Given the description of an element on the screen output the (x, y) to click on. 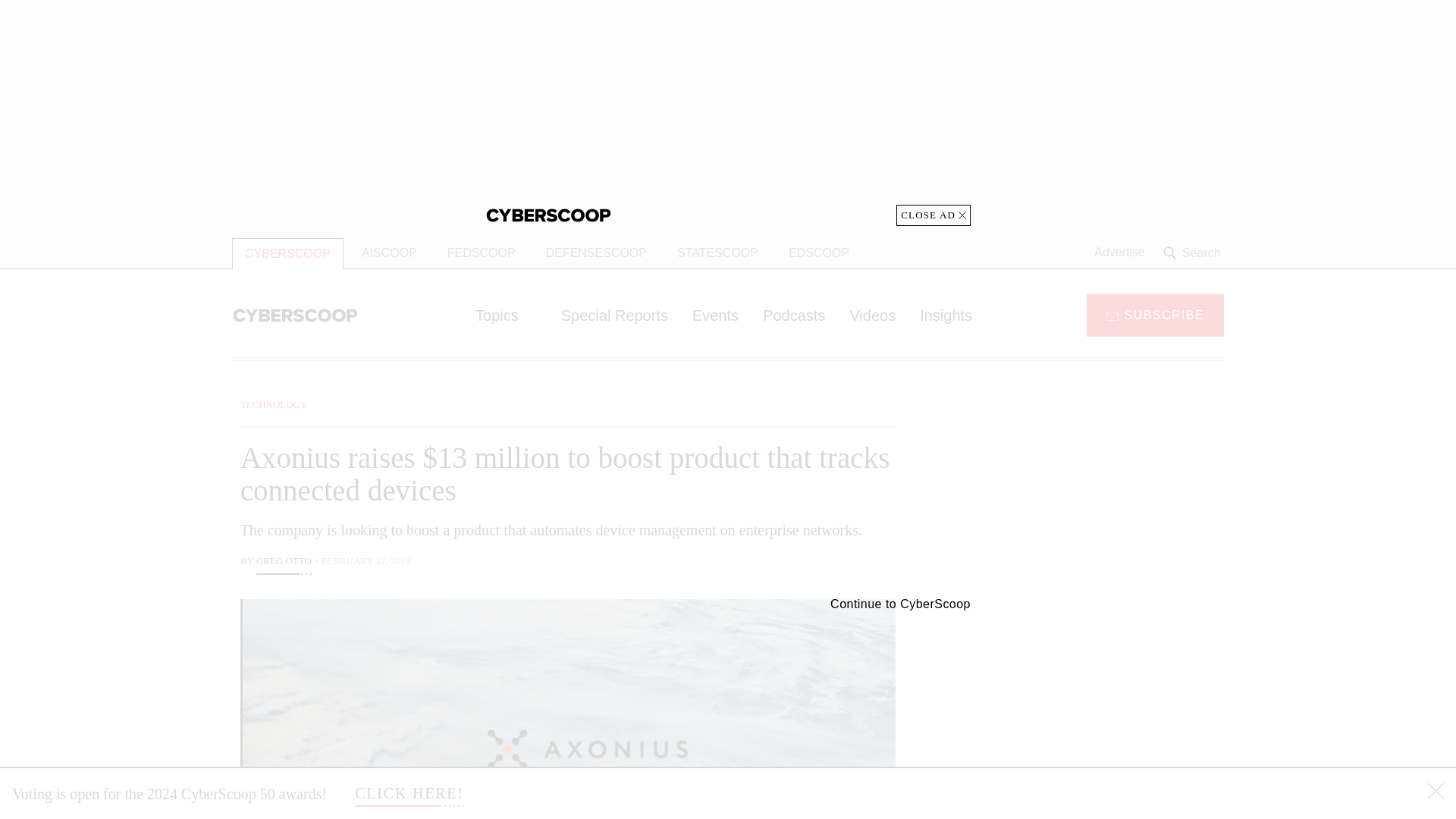
Podcasts (794, 315)
3rd party ad content (1101, 492)
Special Reports (613, 315)
DEFENSESCOOP (596, 253)
Search (1193, 252)
AISCOOP (389, 253)
Videos (872, 315)
Greg Otto (283, 562)
